Given the description of an element on the screen output the (x, y) to click on. 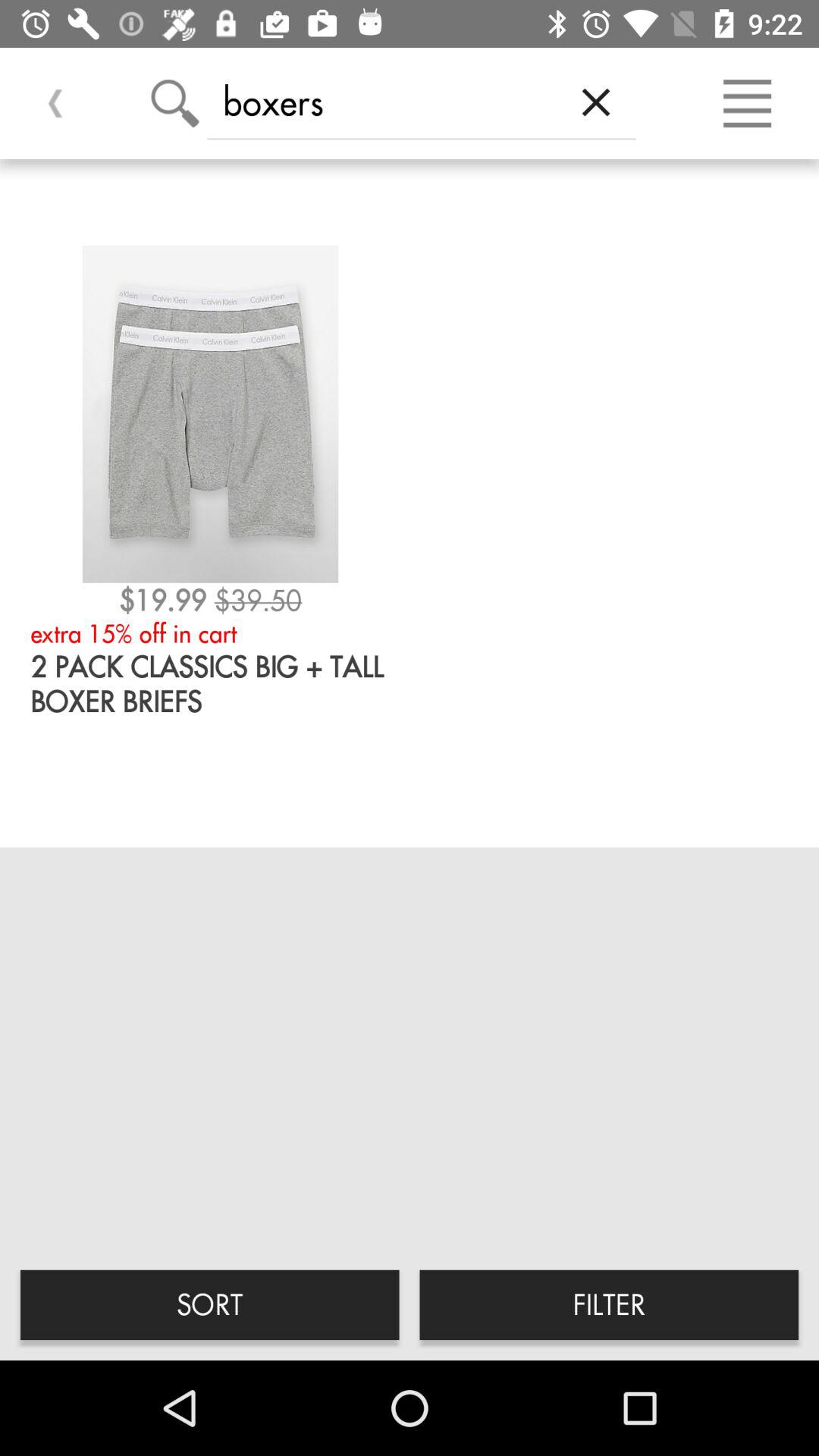
select the icon above filter icon (595, 102)
